Given the description of an element on the screen output the (x, y) to click on. 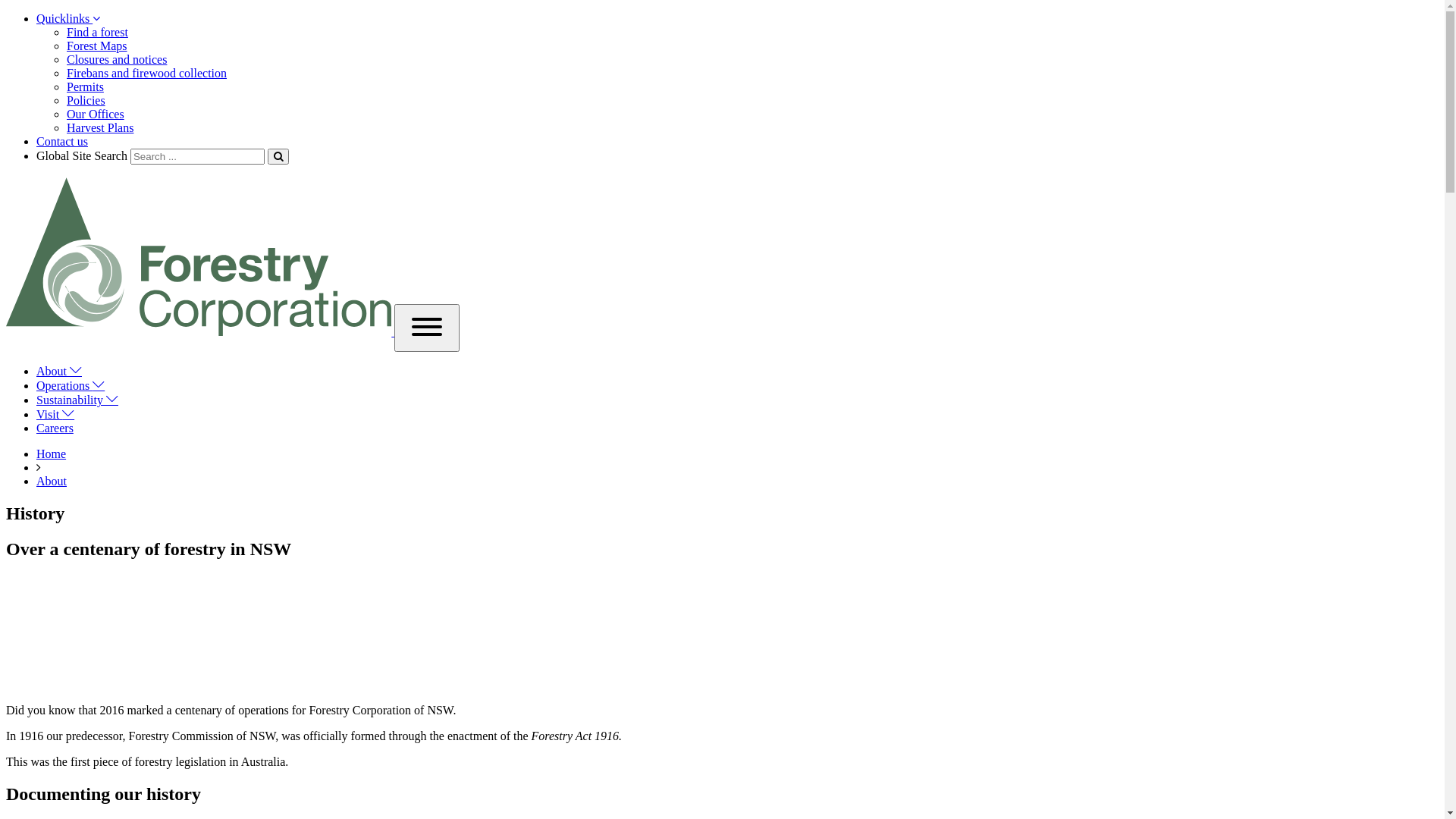
Contact us Element type: text (61, 140)
Harvest Plans Element type: text (99, 127)
Careers Element type: text (54, 427)
Visit Element type: text (55, 413)
Firebans and firewood collection Element type: text (146, 72)
Forest Maps Element type: text (96, 45)
Policies Element type: text (85, 100)
Sustainability Element type: text (77, 399)
Operations Element type: text (70, 385)
Our Offices Element type: text (95, 113)
Find a forest Element type: text (97, 31)
Permits Element type: text (84, 86)
About Element type: text (51, 480)
Closures and notices Element type: text (116, 59)
Home Element type: text (50, 453)
Quicklinks Element type: text (68, 18)
About Element type: text (58, 370)
